Given the description of an element on the screen output the (x, y) to click on. 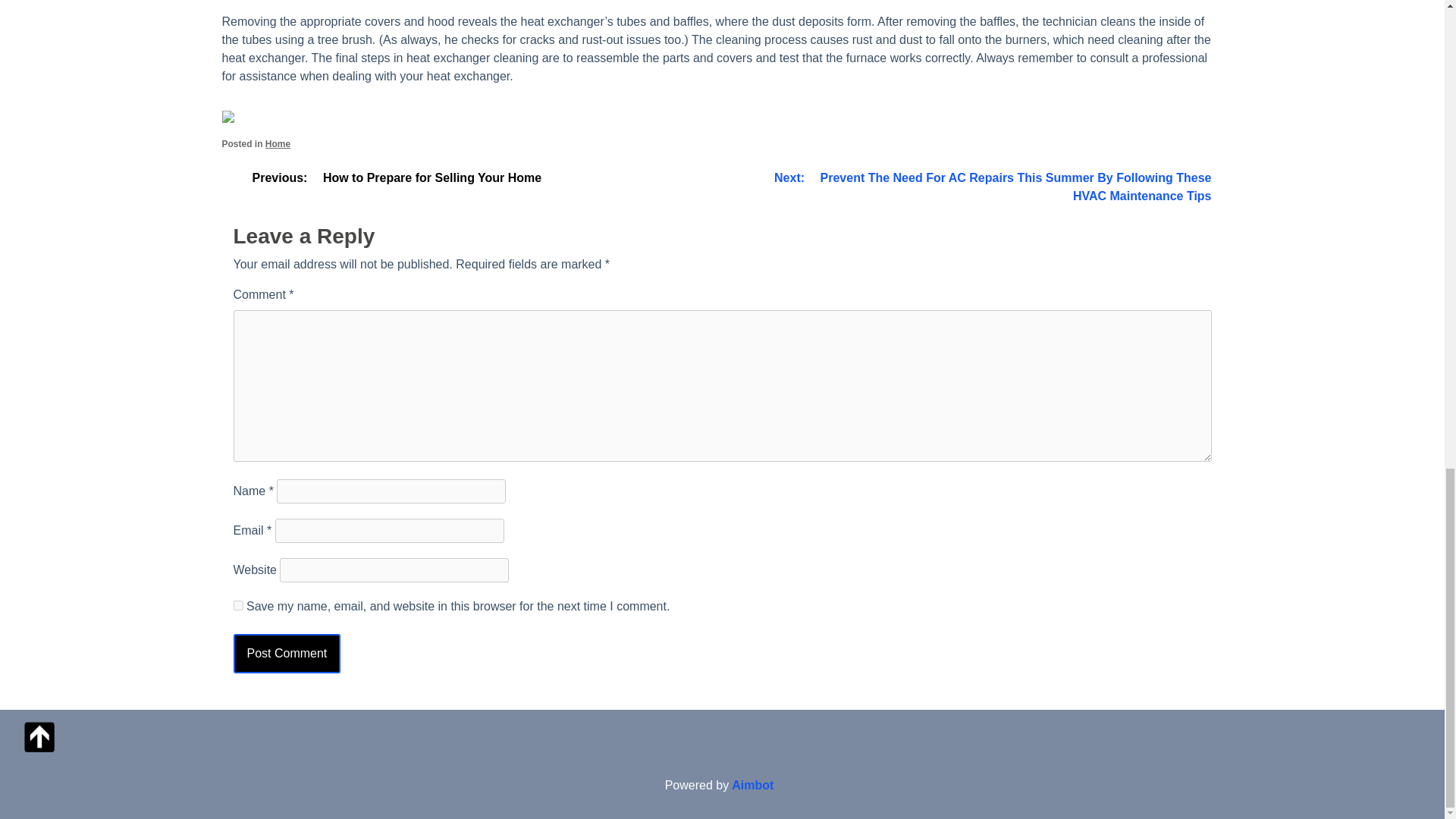
Home (276, 143)
Aimbot (752, 785)
Post Comment (286, 653)
Post Comment (286, 653)
yes (237, 605)
Previous: How to Prepare for Selling Your Home (386, 177)
